Given the description of an element on the screen output the (x, y) to click on. 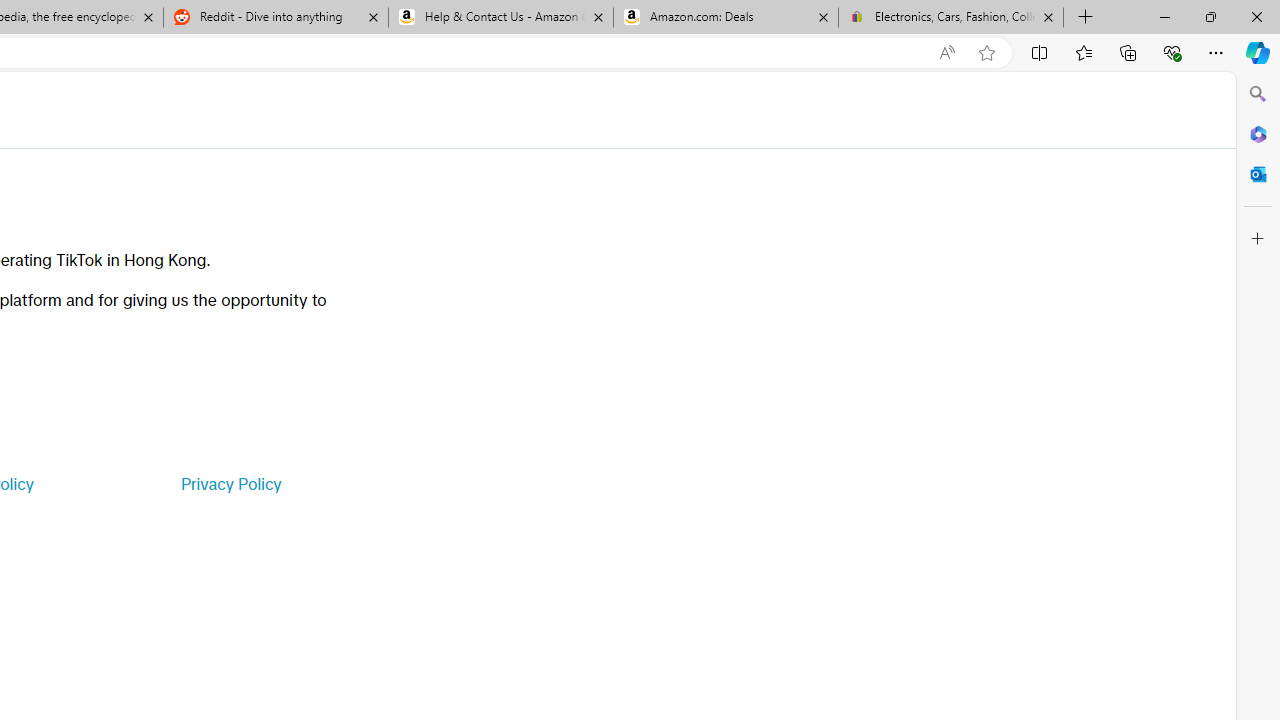
Amazon.com: Deals (726, 17)
Privacy Policy (230, 484)
